Given the description of an element on the screen output the (x, y) to click on. 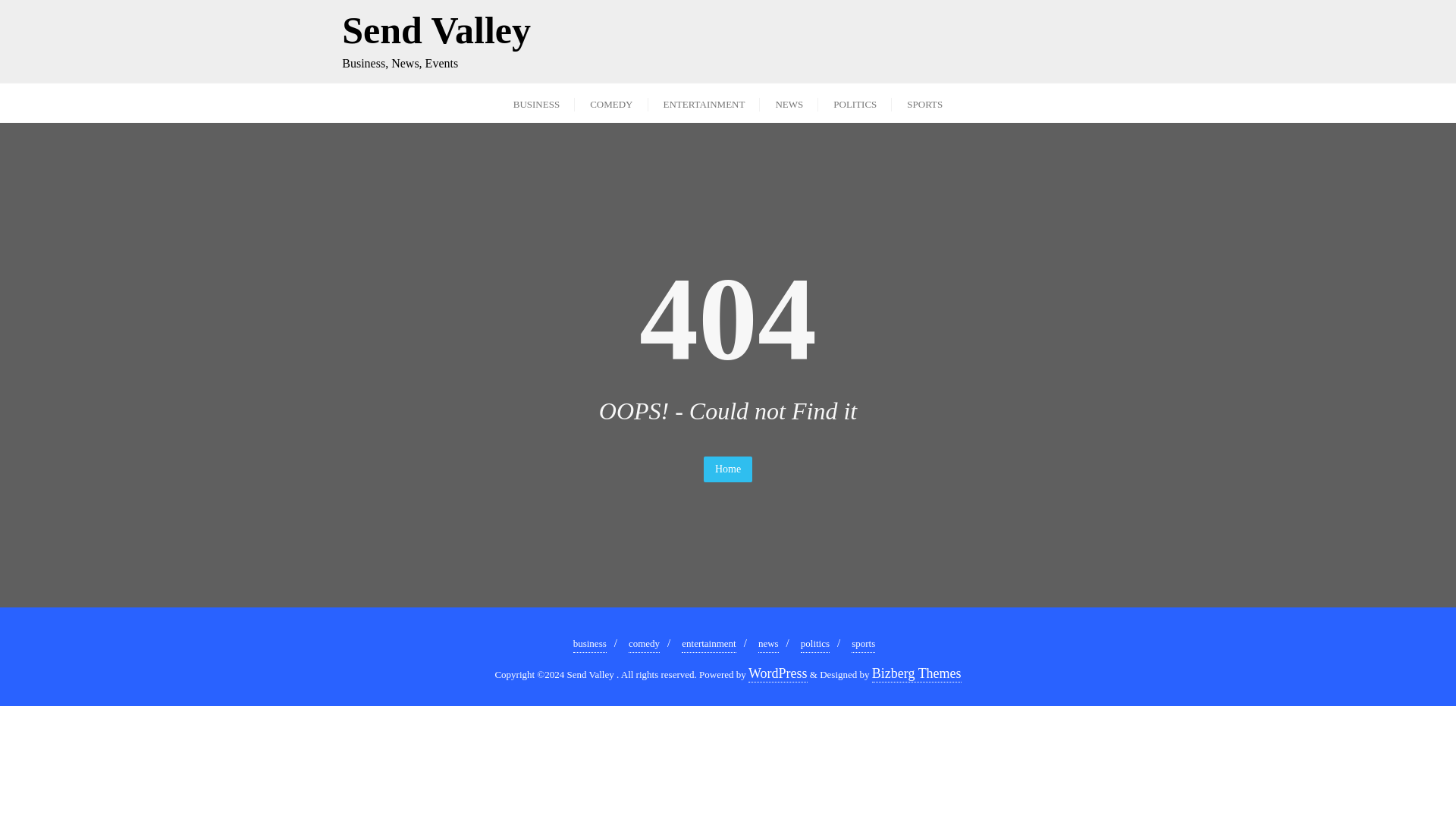
BUSINESS (536, 102)
Bizberg Themes (916, 673)
WordPress (778, 673)
COMEDY (611, 102)
ENTERTAINMENT (703, 102)
sports (863, 643)
POLITICS (854, 102)
business (590, 643)
news (436, 41)
politics (768, 643)
SPORTS (814, 643)
Home (924, 102)
comedy (727, 469)
entertainment (643, 643)
